Given the description of an element on the screen output the (x, y) to click on. 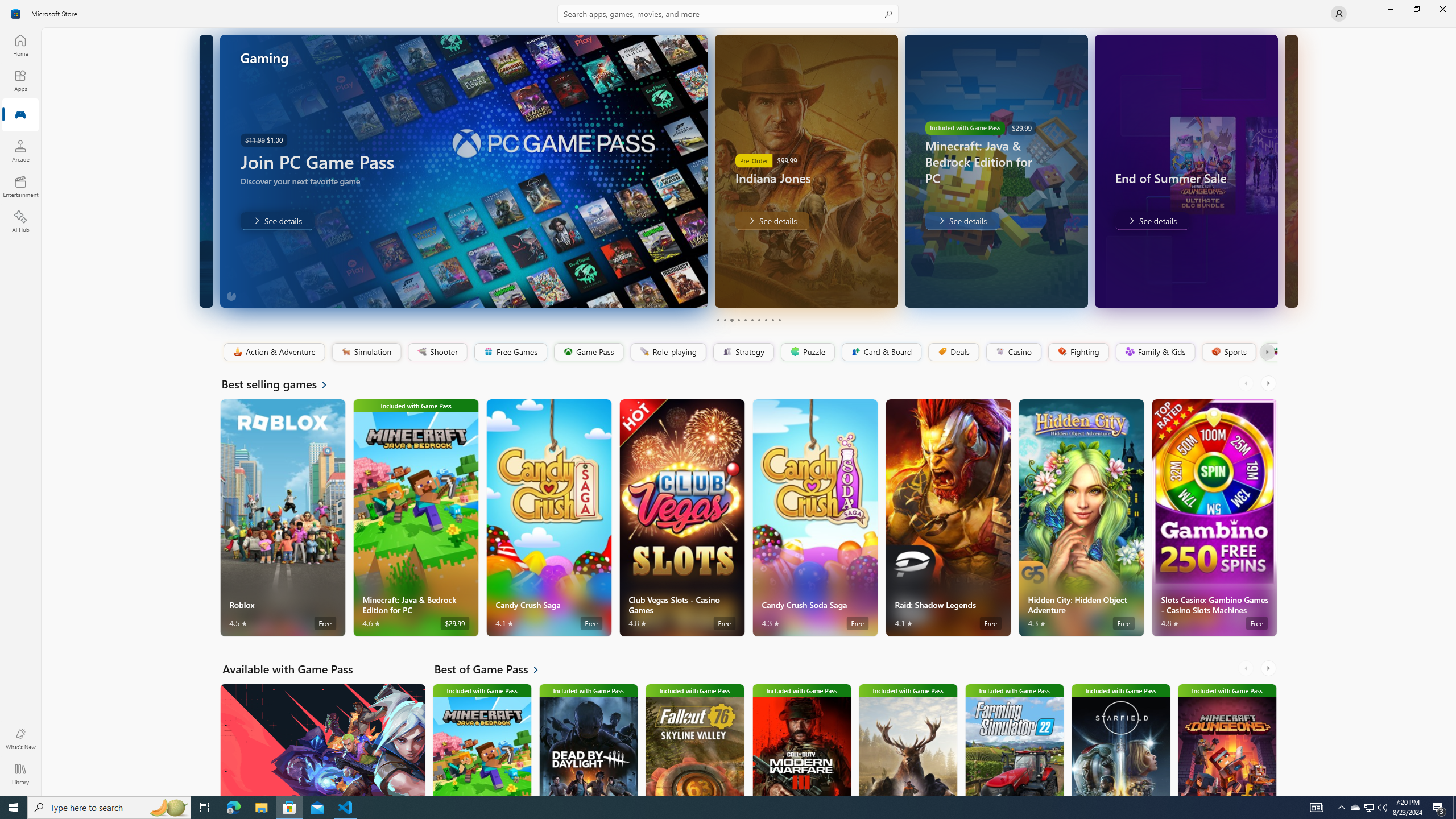
AutomationID: LeftScrollButton (1246, 668)
Role-playing (668, 352)
Game Pass (588, 352)
Page 3 (731, 319)
Home (20, 45)
Minimize Microsoft Store (1390, 9)
Sports (1228, 352)
Page 6 (751, 319)
Puzzle (807, 352)
Page 7 (758, 319)
Card & Board (880, 352)
Casino (1013, 352)
Pager (748, 319)
See all  Best of Game Pass (493, 668)
